Given the description of an element on the screen output the (x, y) to click on. 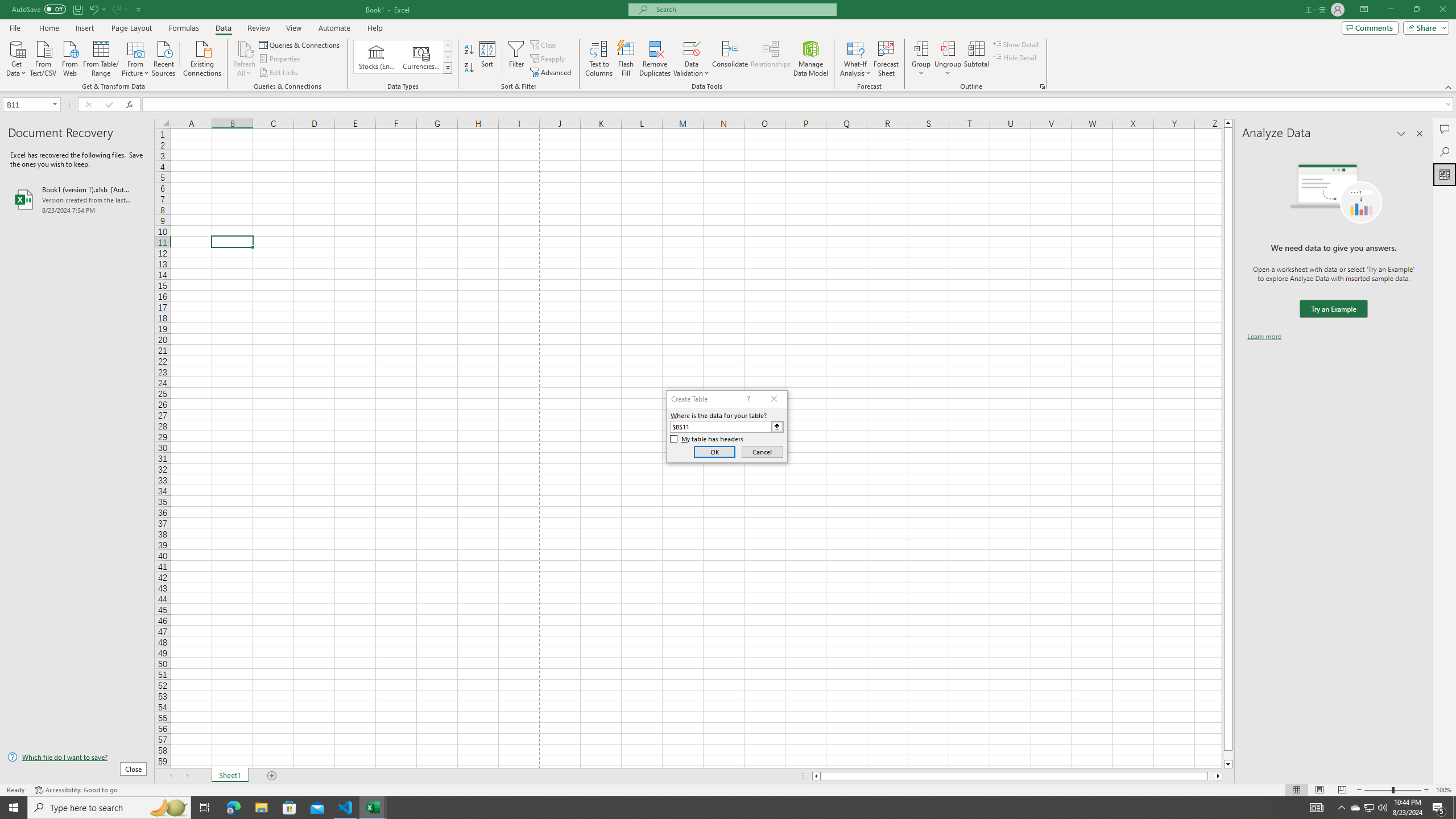
Open (54, 104)
Queries & Connections (300, 44)
Review (258, 28)
Automate (334, 28)
What-If Analysis (855, 58)
Refresh All (244, 58)
Scroll Right (187, 775)
File Tab (15, 27)
Hide Detail (1014, 56)
Analyze Data (1444, 173)
Remove Duplicates (654, 58)
Row Down (448, 56)
Edit Links (279, 72)
Comments (1444, 128)
Customize Quick Access Toolbar (139, 9)
